Given the description of an element on the screen output the (x, y) to click on. 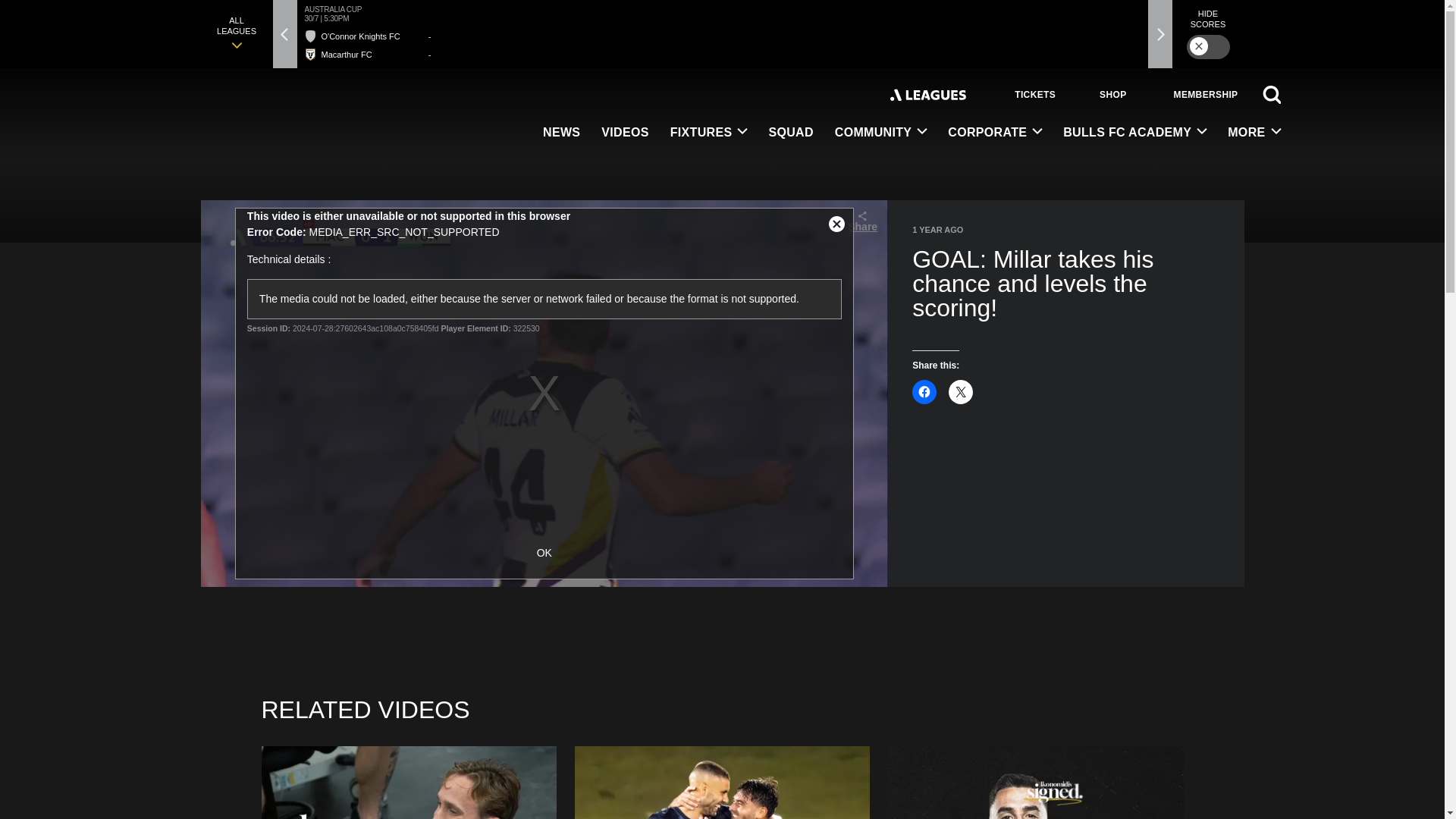
SQUAD (790, 133)
CORPORATE (994, 132)
MORE (1248, 132)
VIDEOS (625, 133)
NEWS (561, 133)
FIXTURES (708, 132)
Share (861, 220)
COMMUNITY (880, 132)
Close Modal Dialog (837, 224)
BULLS FC ACADEMY (1134, 132)
